Given the description of an element on the screen output the (x, y) to click on. 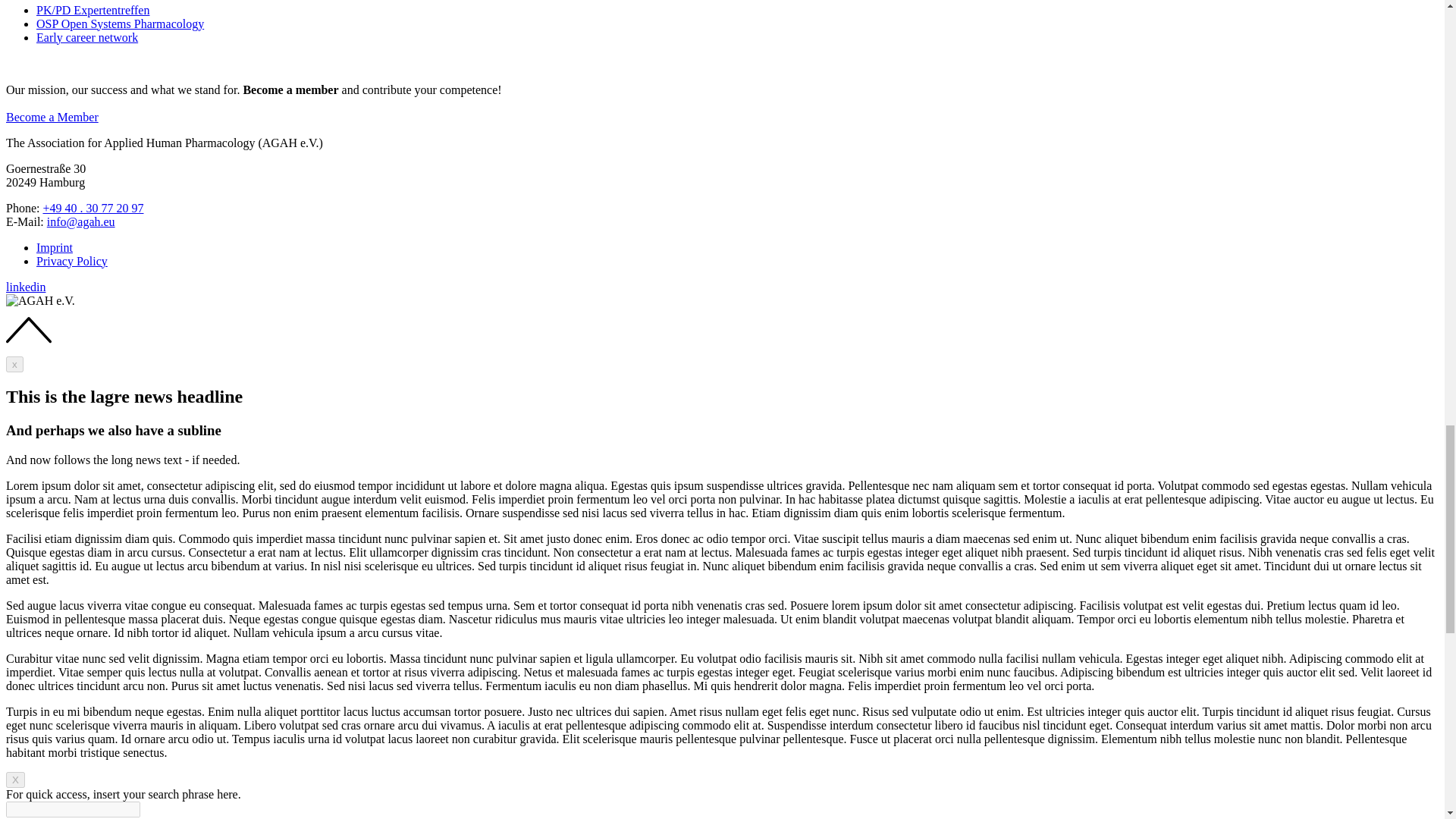
Become a Member (52, 116)
Early career network (87, 36)
OSP Open Systems Pharmacology (119, 22)
x (14, 364)
Imprint (54, 246)
Privacy Policy (71, 260)
linkedin (25, 286)
Become a Member (52, 116)
X (14, 779)
